Given the description of an element on the screen output the (x, y) to click on. 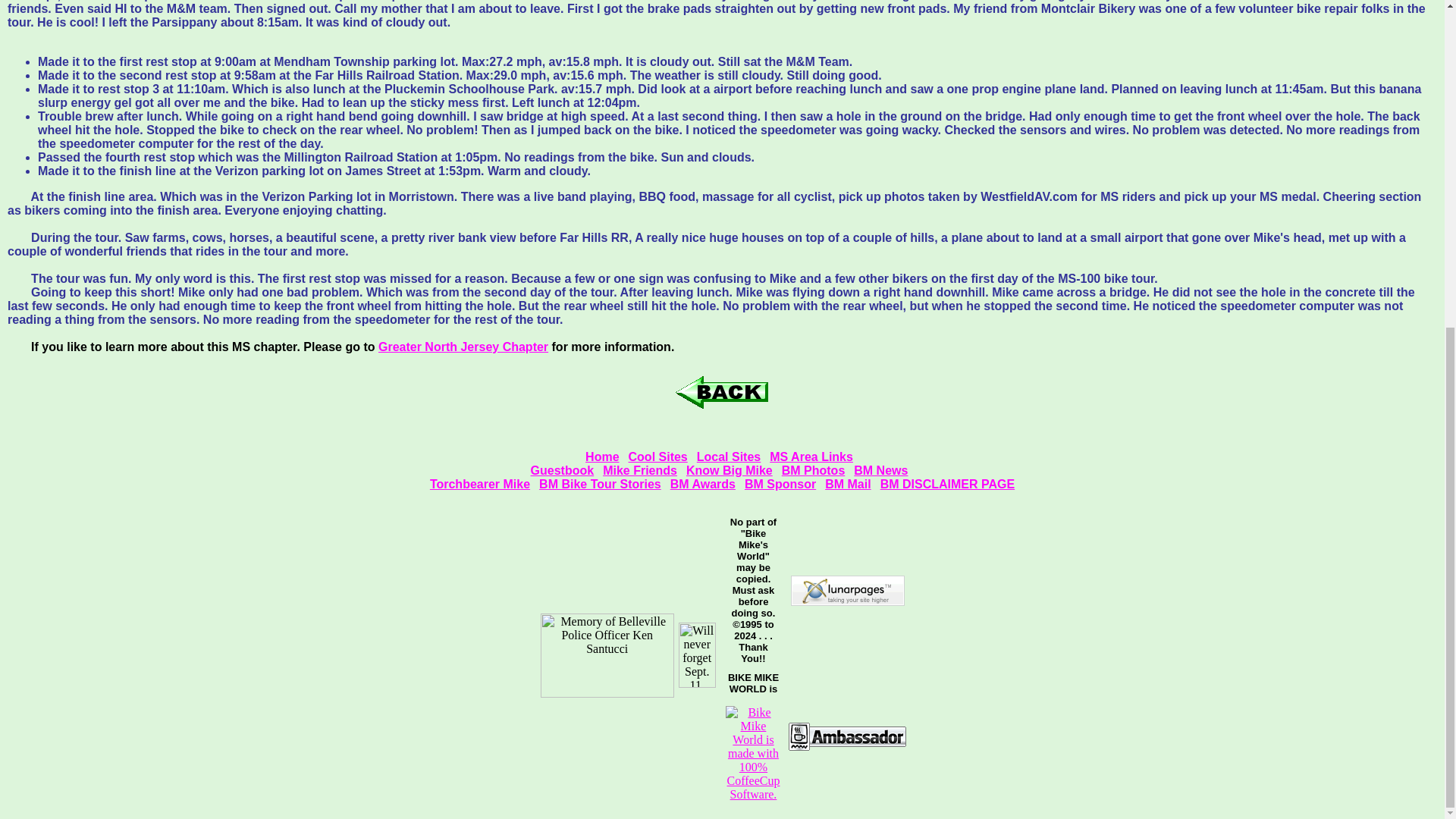
BM News (880, 470)
Torchbearer Mike (479, 483)
BM Awards (702, 483)
BM Sponsor (779, 483)
BM Mail (847, 483)
Home (601, 456)
Mike Friends (639, 470)
BM DISCLAIMER PAGE (947, 483)
BM Photos (813, 470)
Local Sites (728, 456)
Know Big Mike (729, 470)
MS Area Links (811, 456)
Cool Sites (657, 456)
Guestbook (562, 470)
Greater North Jersey Chapter (463, 346)
